Given the description of an element on the screen output the (x, y) to click on. 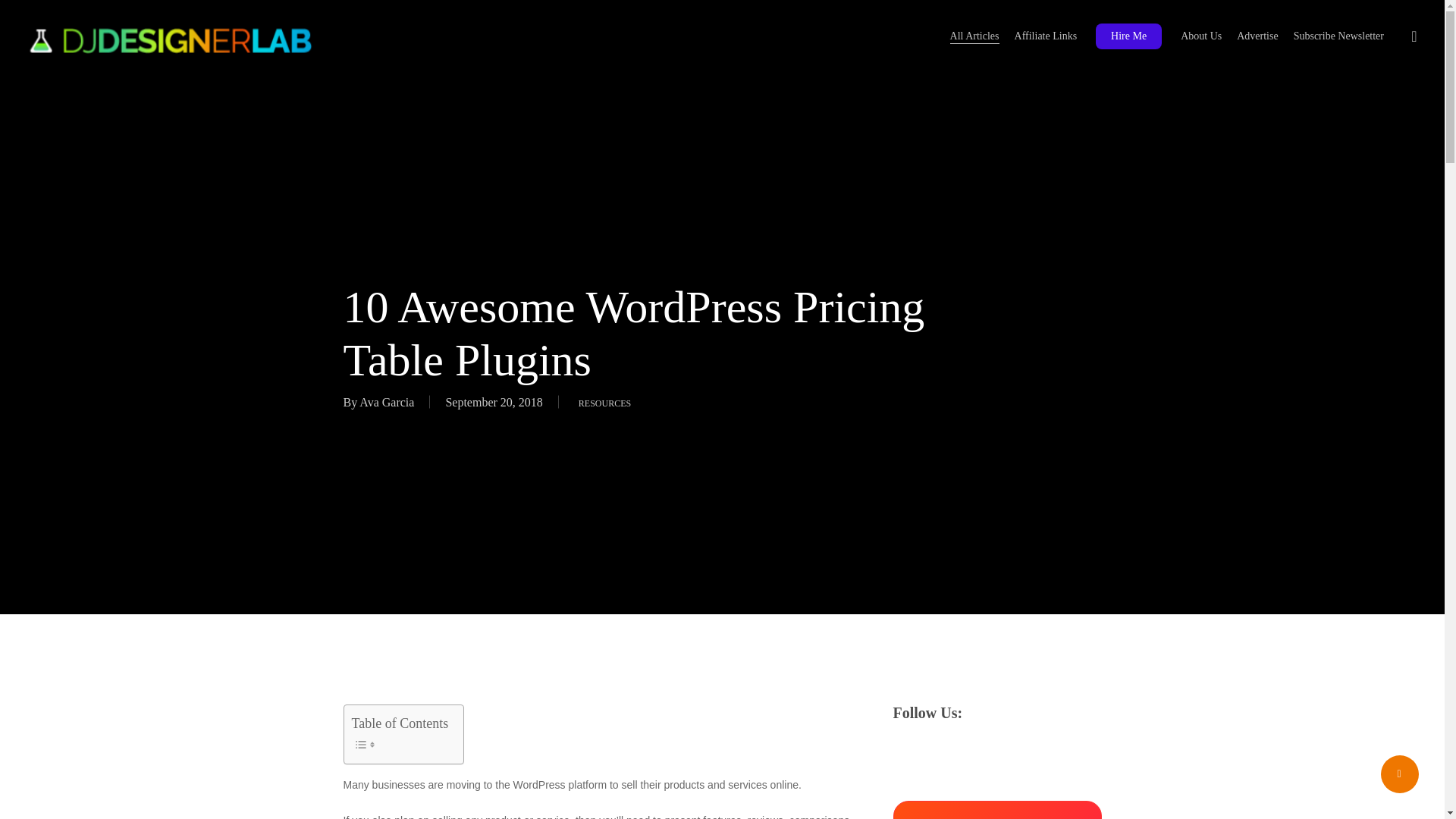
Ava Garcia (386, 401)
Advertise (1257, 36)
Posts by Ava Garcia (386, 401)
All Articles (974, 36)
Affiliate Links (1045, 36)
Hire Me (1128, 36)
Subscribe Newsletter (1339, 36)
About Us (1200, 36)
search (1414, 36)
RESOURCES (603, 402)
